Given the description of an element on the screen output the (x, y) to click on. 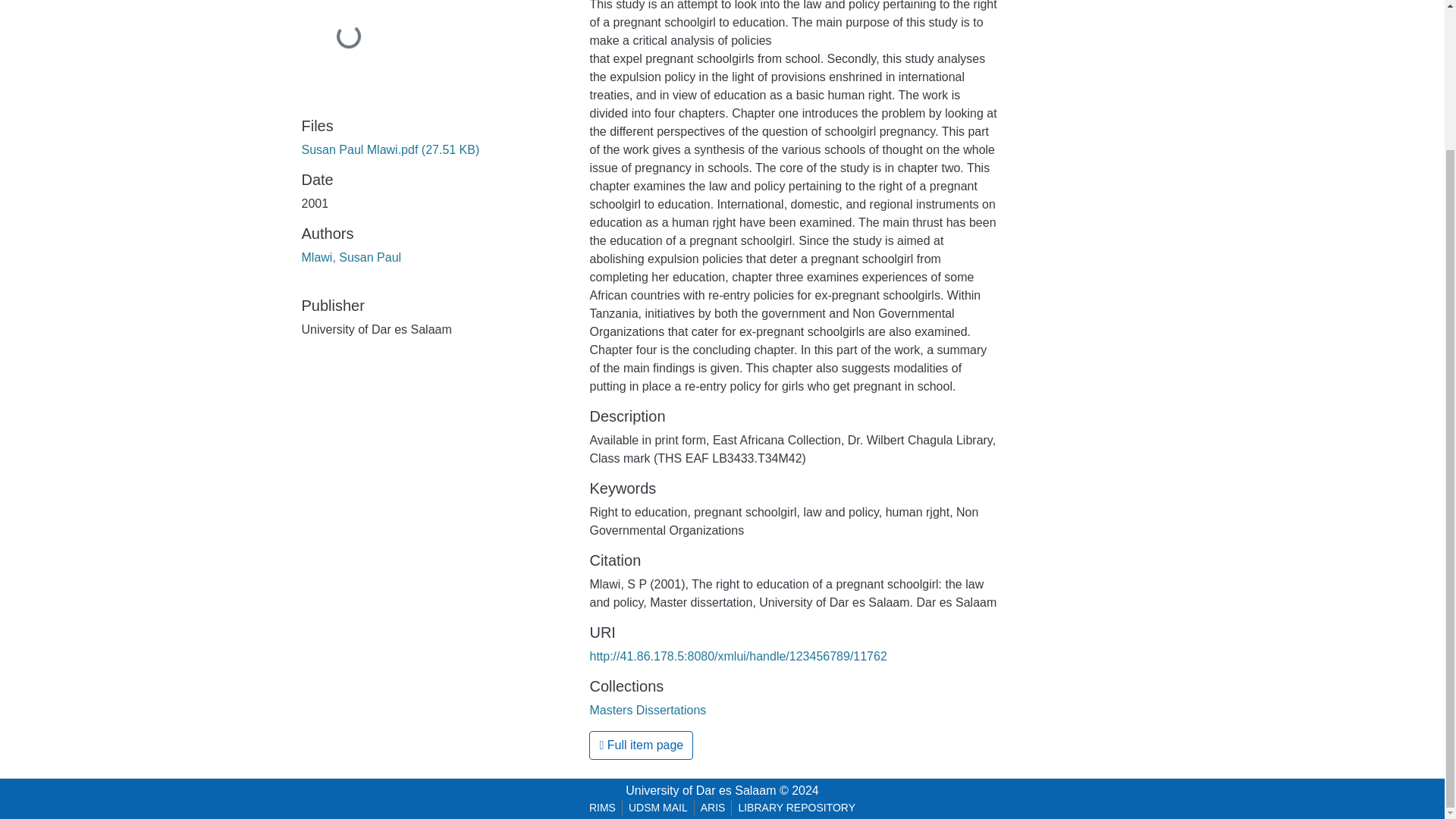
Mlawi, Susan Paul (351, 256)
LIBRARY REPOSITORY (796, 807)
ARIS (713, 807)
UDSM MAIL (658, 807)
Full item page (641, 745)
RIMS (602, 807)
Masters Dissertations (647, 709)
